Given the description of an element on the screen output the (x, y) to click on. 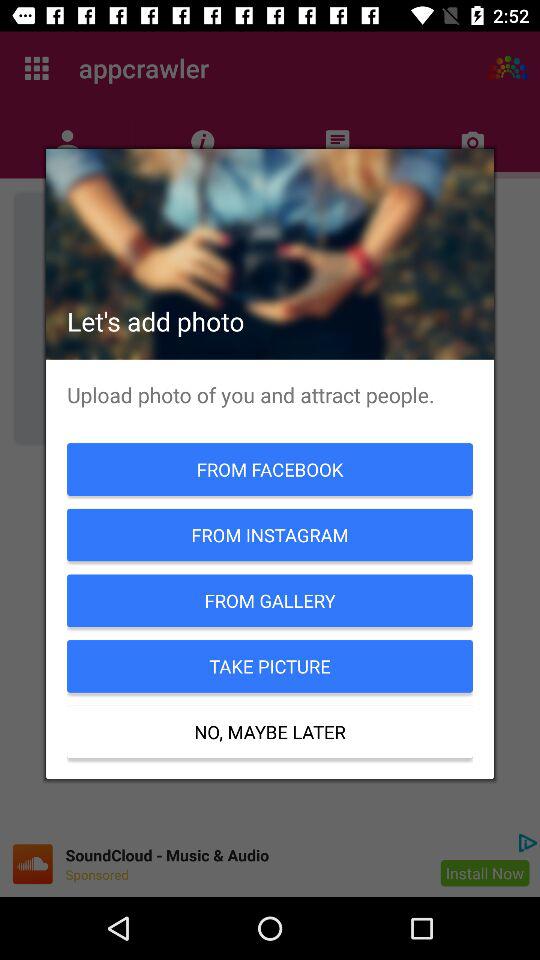
flip to the from instagram item (269, 534)
